Given the description of an element on the screen output the (x, y) to click on. 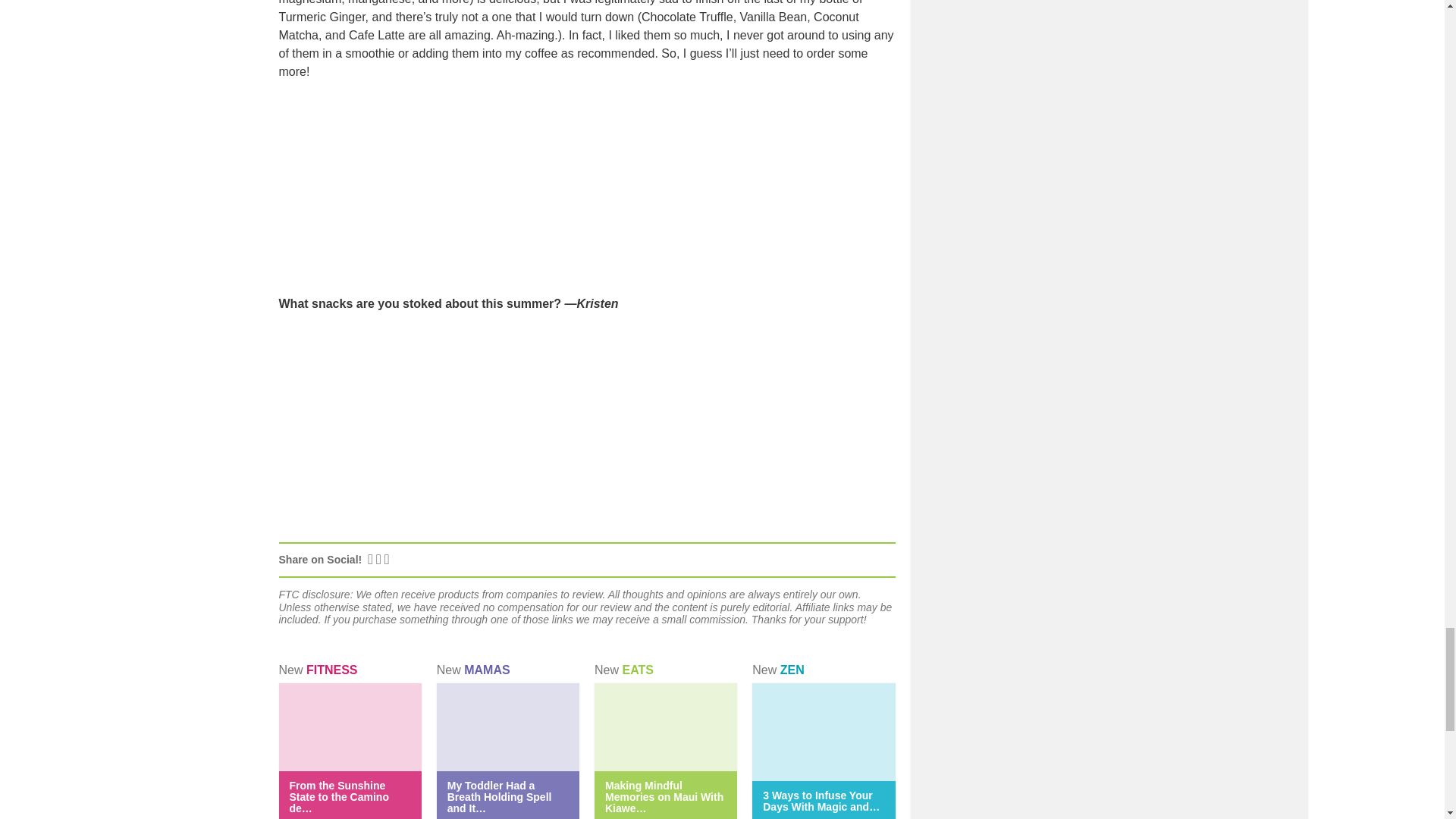
My Toddler Had a Breath Holding Spell and It Was Scary AF (498, 796)
From the Sunshine State to the Camino de Santiago (338, 796)
3 Ways to Infuse Your Days With Magic and Meaning (820, 801)
Making Mindful Memories on Maui With Kiawe Outdoor (664, 796)
